Given the description of an element on the screen output the (x, y) to click on. 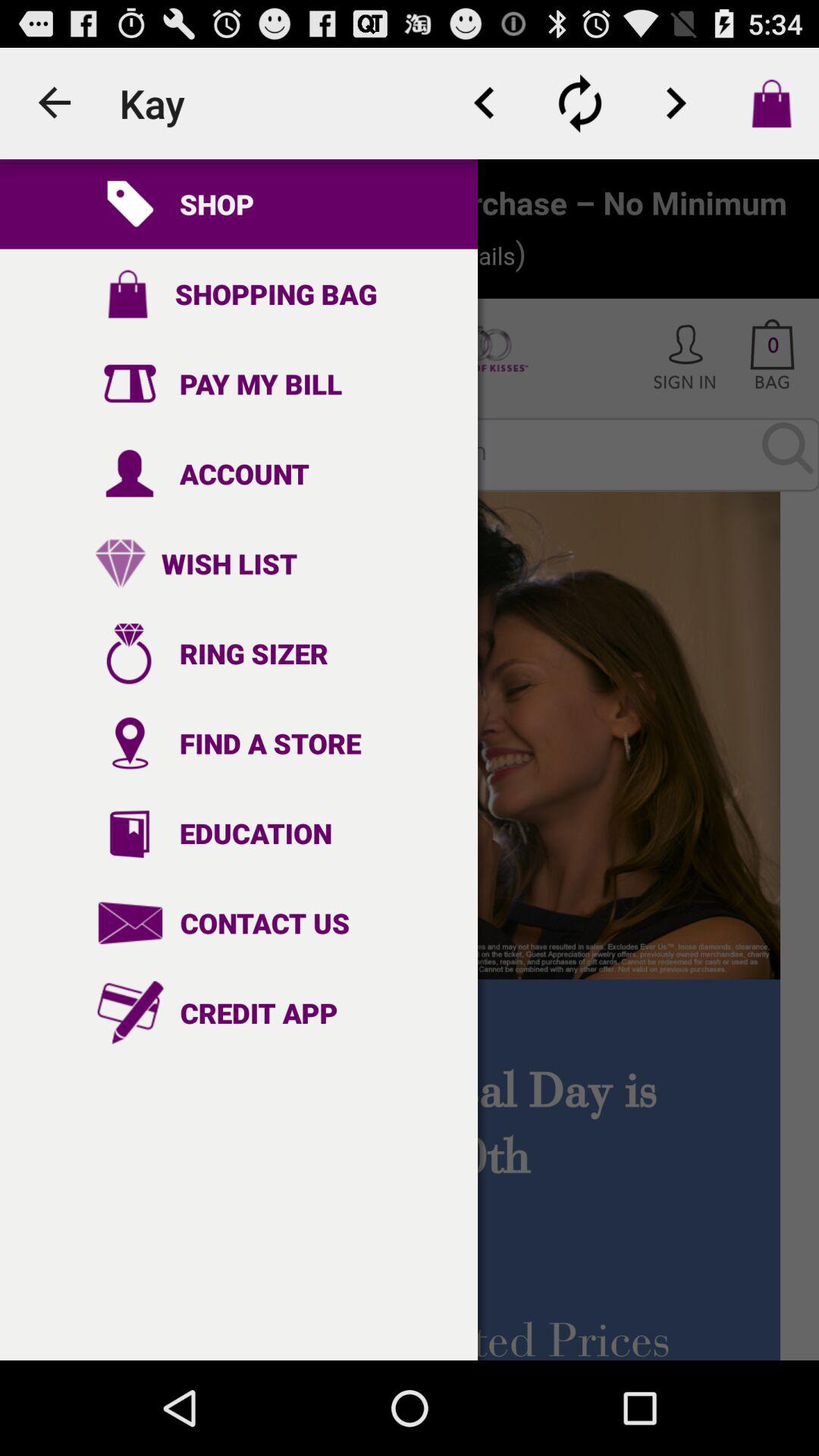
refrech (579, 103)
